Given the description of an element on the screen output the (x, y) to click on. 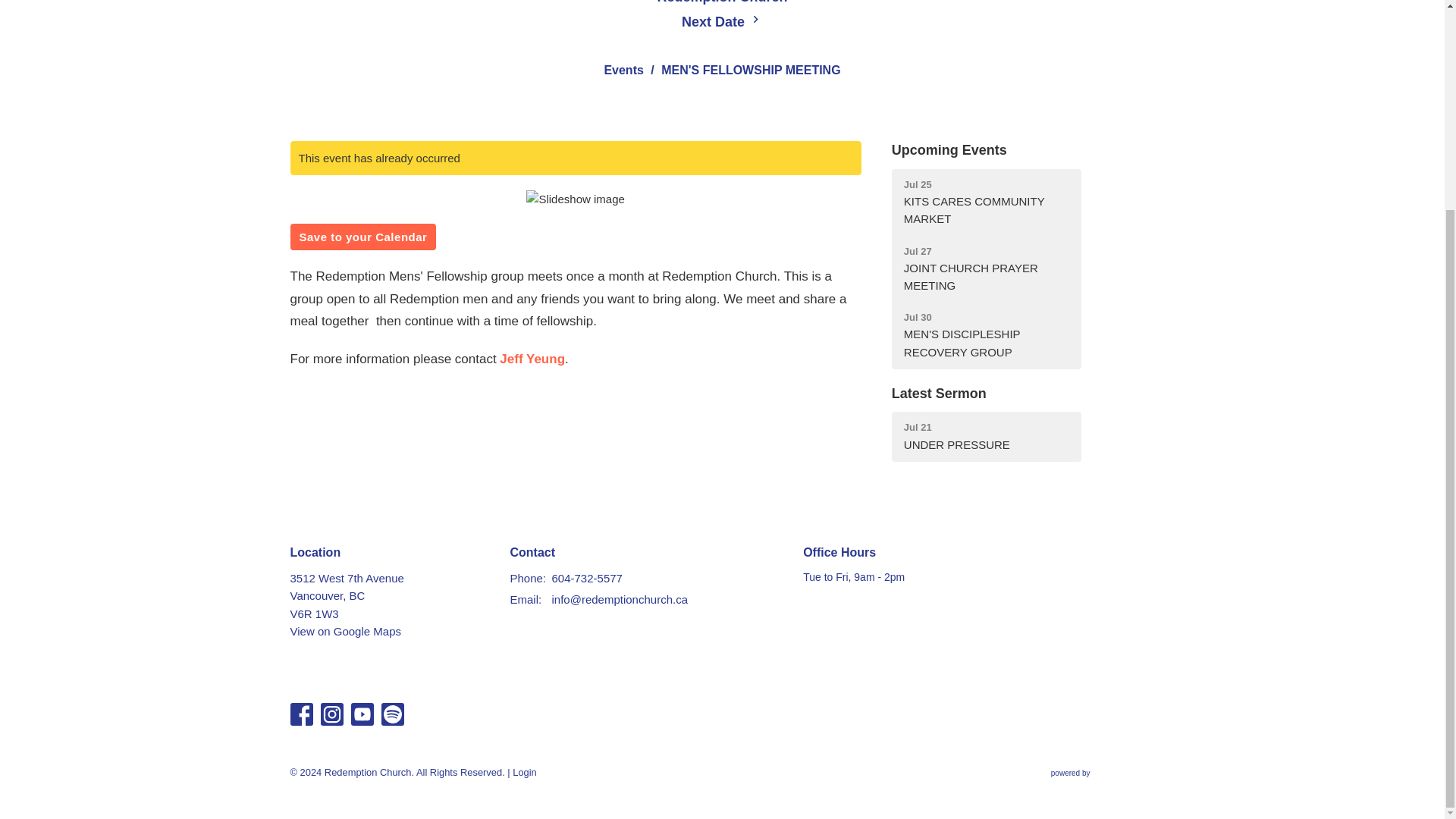
Login (524, 772)
Save to your Calendar (362, 236)
604-732-5577 (587, 578)
Men's Fellowship Group (531, 359)
Next Date (721, 21)
translation missing: en.ui.email (986, 269)
Jeff Yeung (523, 599)
Events (531, 359)
View on Google Maps (986, 335)
Upcoming Events (623, 69)
